Given the description of an element on the screen output the (x, y) to click on. 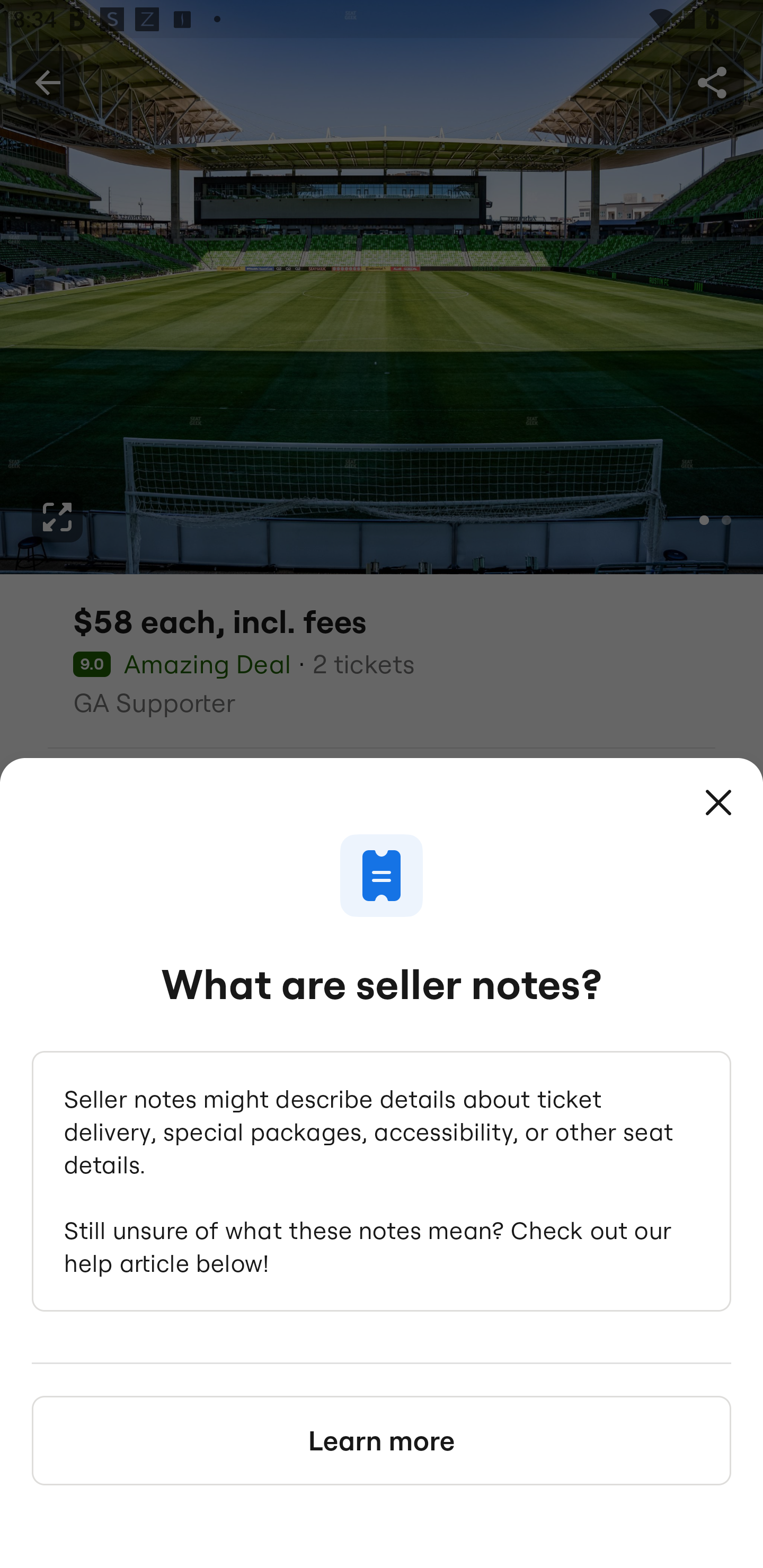
Close (718, 802)
Learn more (381, 1439)
